Given the description of an element on the screen output the (x, y) to click on. 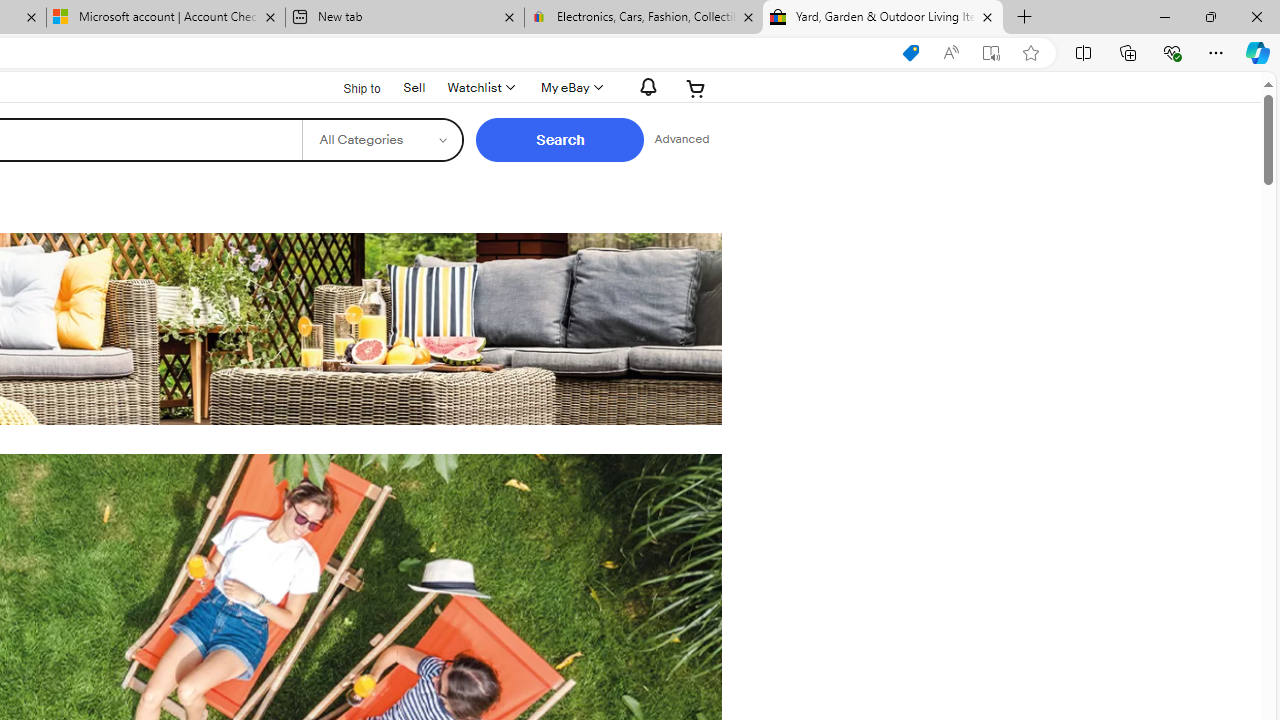
AutomationID: gh-eb-Alerts (645, 87)
WatchlistExpand Watch List (479, 88)
